Given the description of an element on the screen output the (x, y) to click on. 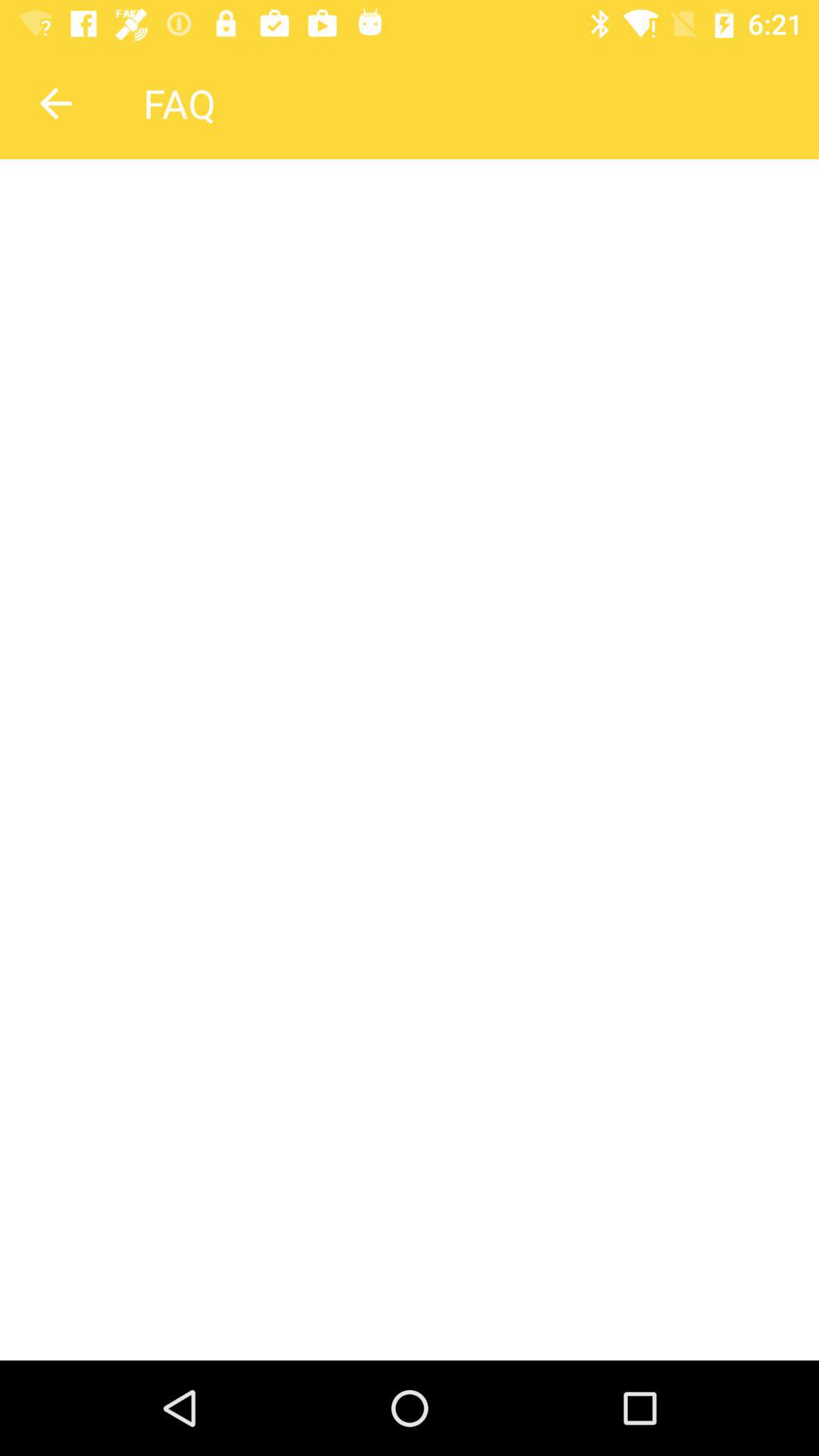
back arrow (55, 103)
